Given the description of an element on the screen output the (x, y) to click on. 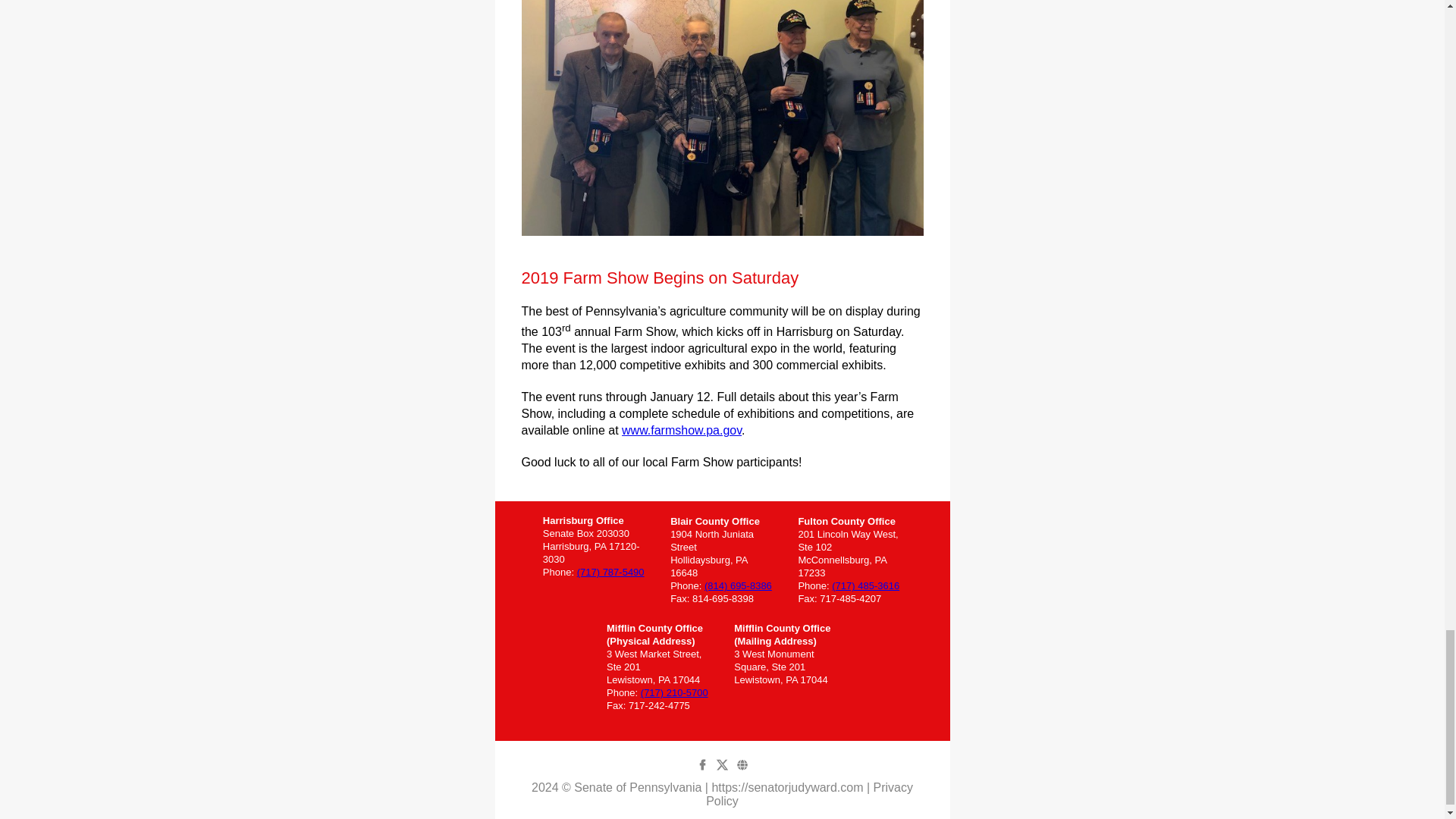
www.farmshow.pa.gov (681, 430)
Privacy Policy (809, 794)
